Given the description of an element on the screen output the (x, y) to click on. 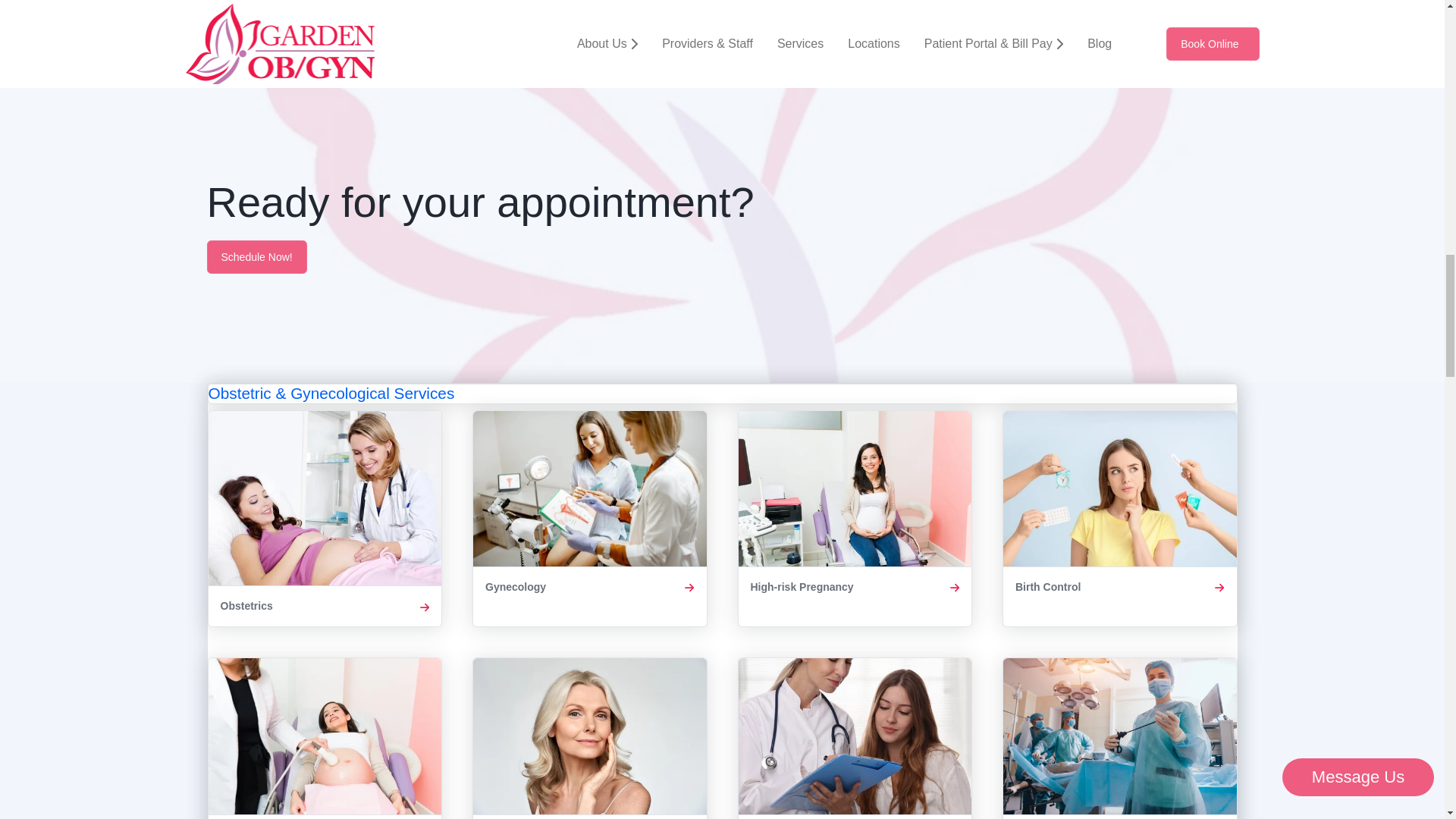
OB Ultrasound (325, 738)
Birth Control (1120, 519)
Menopause (589, 738)
High-risk Pregnancy (854, 519)
Schedule Now! (255, 256)
Obstetrics (325, 519)
Gynecology (589, 519)
